Given the description of an element on the screen output the (x, y) to click on. 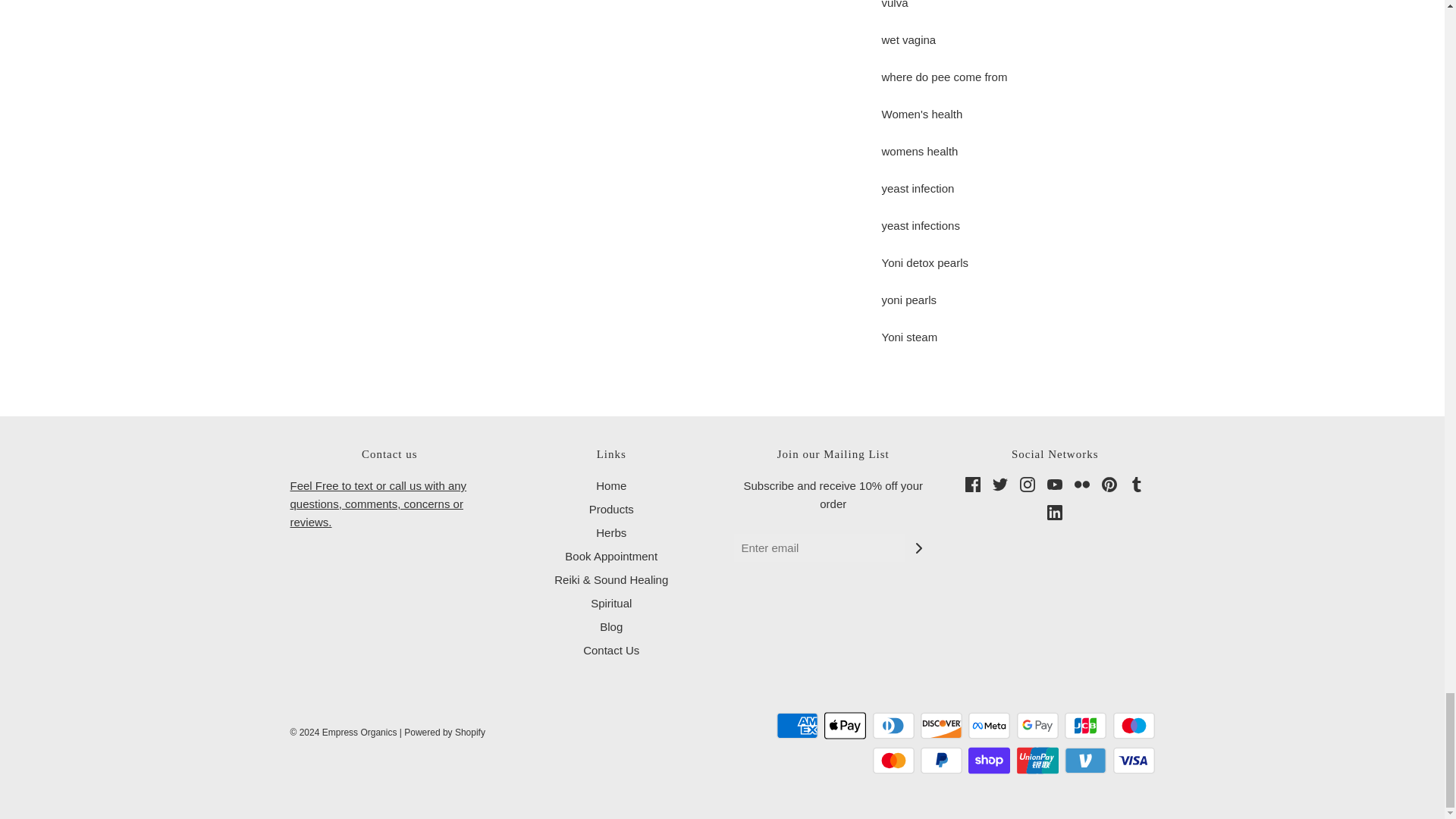
Twitter icon (999, 484)
Instagram icon (1027, 484)
Flickr icon (1081, 484)
Facebook icon (972, 484)
YouTube icon (1054, 484)
Pinterest icon (1109, 484)
